Given the description of an element on the screen output the (x, y) to click on. 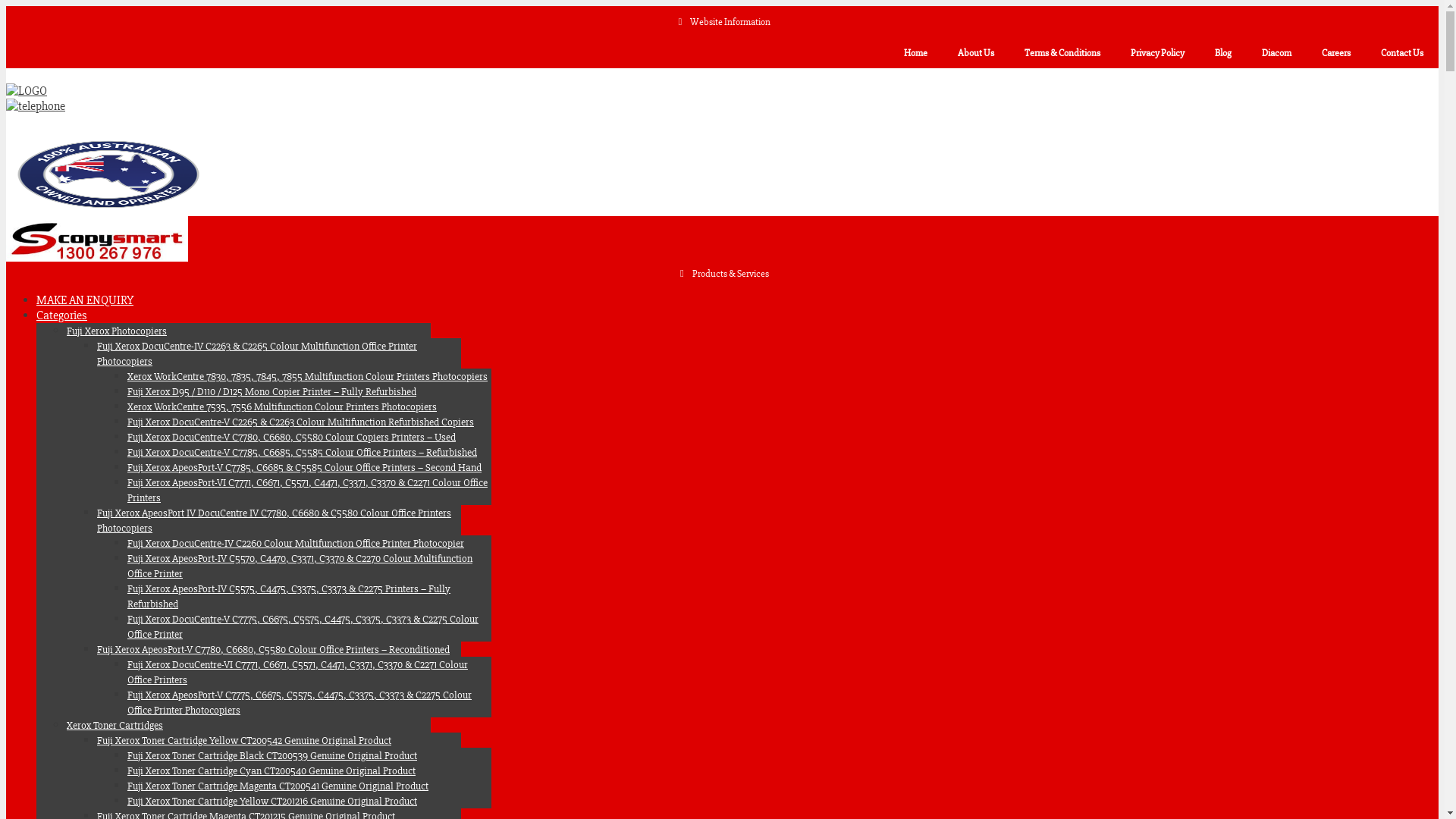
Terms & Conditions Element type: text (1062, 52)
About Us Element type: text (975, 52)
Careers Element type: text (1335, 52)
Diacom Element type: text (1276, 52)
Fuji Xerox Photocopiers Element type: text (116, 330)
Blog Element type: text (1222, 52)
MAKE AN ENQUIRY Element type: text (84, 299)
Contact Us Element type: text (1401, 52)
Categories Element type: text (61, 315)
Products & Services Element type: text (722, 273)
Home Element type: text (915, 52)
Website Information Element type: text (722, 21)
Privacy Policy Element type: text (1157, 52)
Skip to content Element type: text (5, 5)
Xerox Toner Cartridges Element type: text (114, 724)
